Given the description of an element on the screen output the (x, y) to click on. 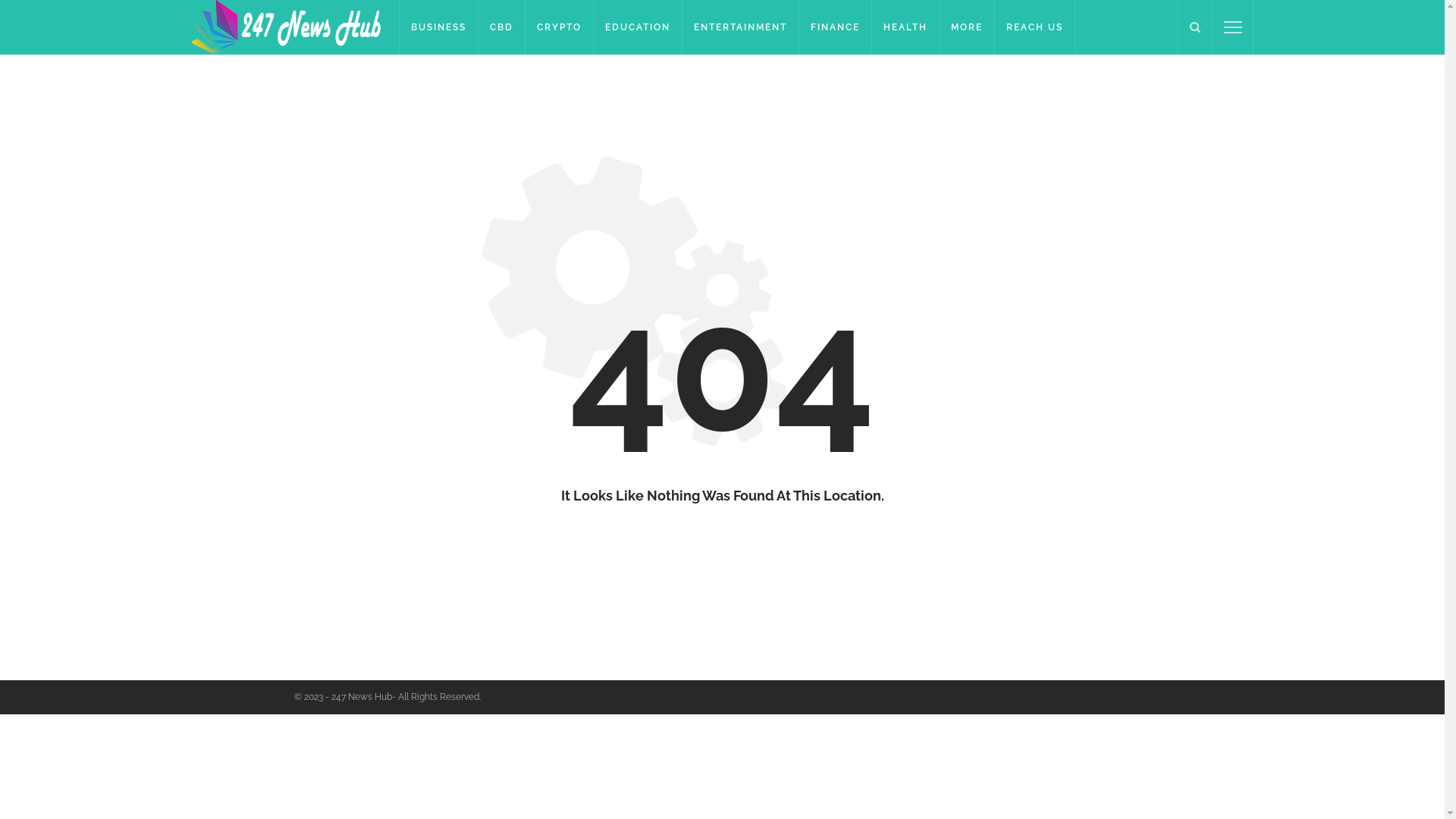
REACH US Element type: text (1034, 27)
FINANCE Element type: text (835, 27)
BUSINESS Element type: text (438, 27)
HEALTH Element type: text (905, 27)
EDUCATION Element type: text (637, 27)
CRYPTO Element type: text (559, 27)
ENTERTAINMENT Element type: text (740, 27)
CBD Element type: text (501, 27)
MORE Element type: text (966, 27)
